Given the description of an element on the screen output the (x, y) to click on. 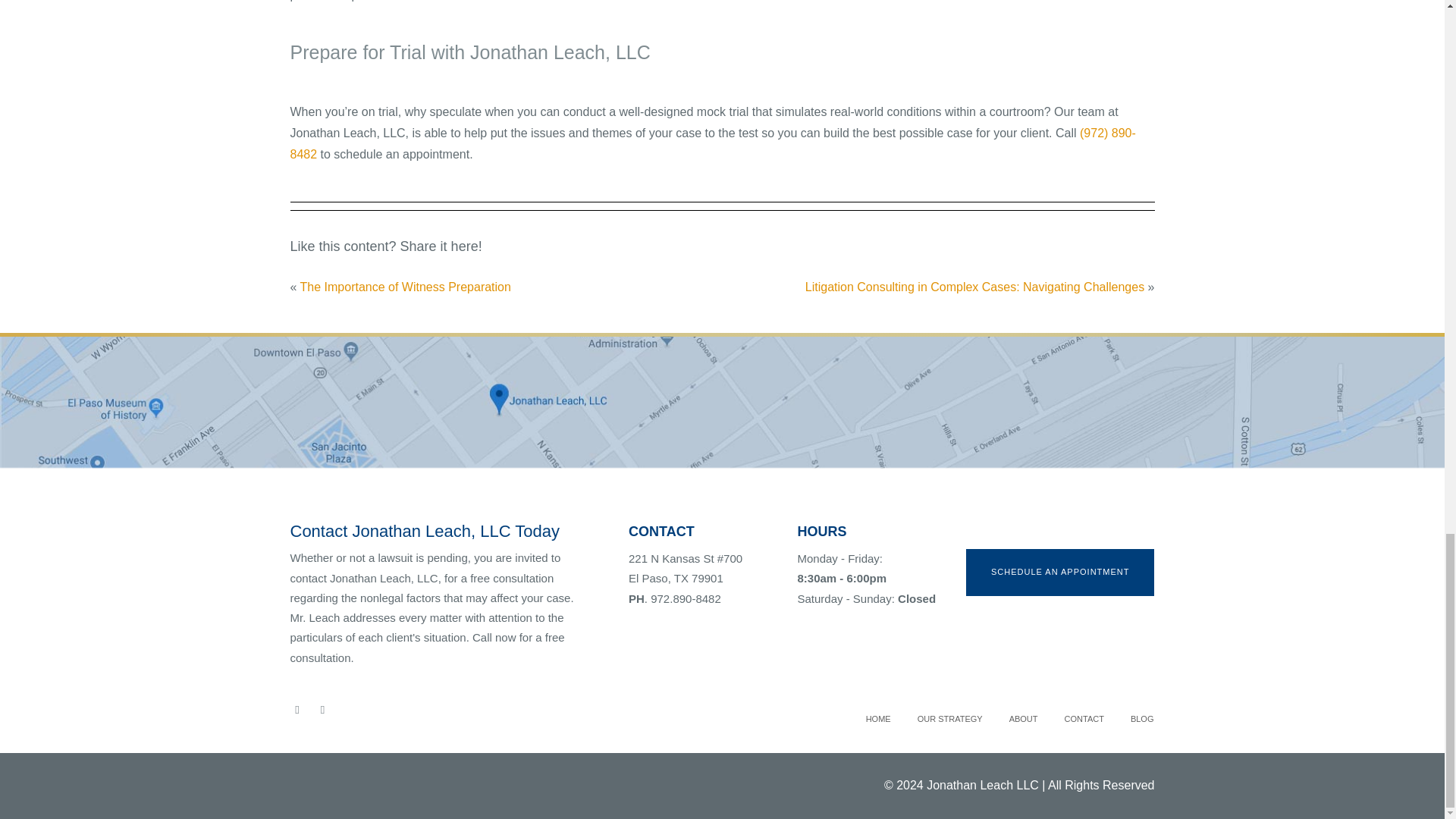
The Importance of Witness Preparation (405, 286)
972.890-8482 (685, 598)
SCHEDULE AN APPOINTMENT (1060, 571)
SCHEDULE AN APPOINTMENT (1060, 572)
Home (878, 718)
